Given the description of an element on the screen output the (x, y) to click on. 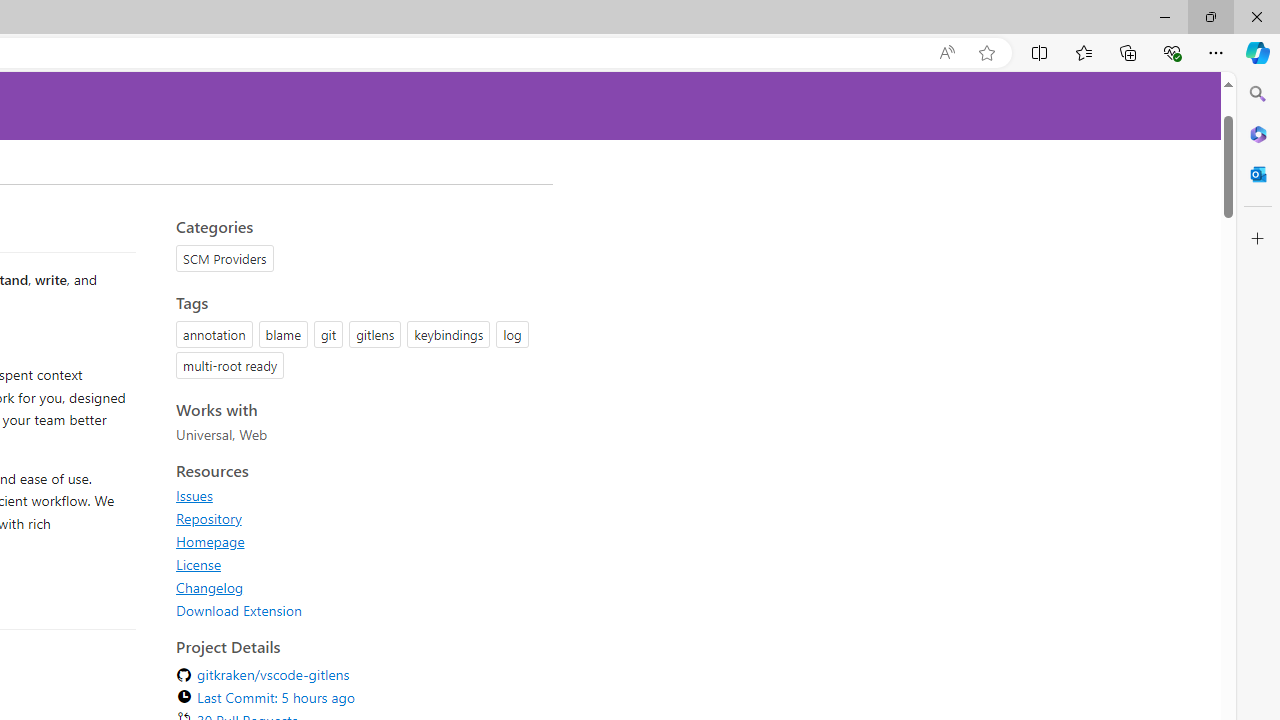
Issues (358, 495)
License (198, 564)
License (358, 564)
Download Extension (239, 610)
